Given the description of an element on the screen output the (x, y) to click on. 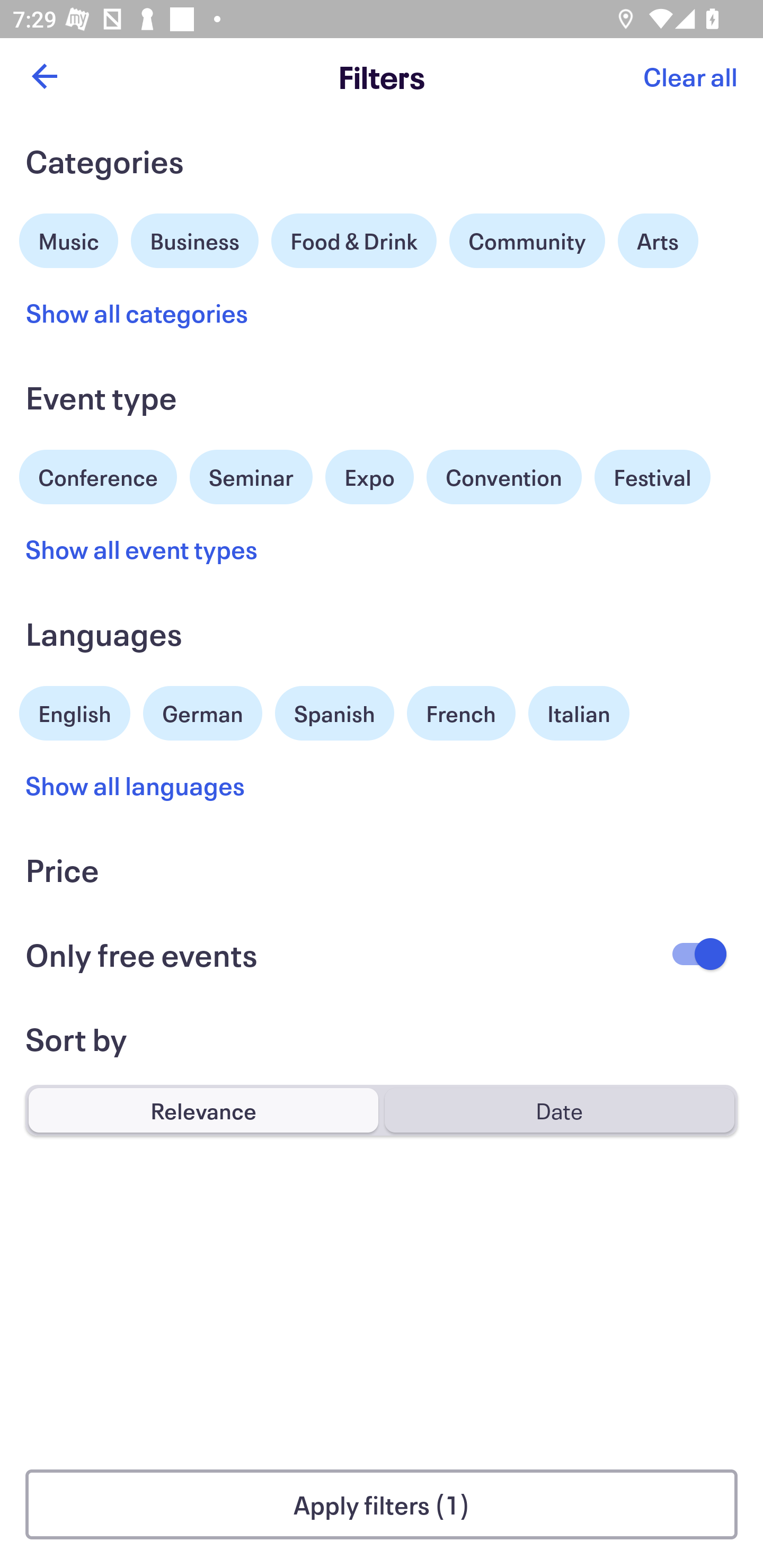
Back button (44, 75)
Clear all (690, 75)
Music (68, 238)
Business (194, 238)
Food & Drink (353, 240)
Community (527, 240)
Arts (658, 240)
Show all categories (136, 312)
Conference (98, 475)
Seminar (250, 477)
Expo (369, 477)
Convention (503, 477)
Festival (652, 477)
Show all event types (141, 548)
English (74, 710)
German (202, 710)
Spanish (334, 713)
French (460, 713)
Italian (578, 713)
Show all languages (135, 784)
Relevance (203, 1109)
Date (559, 1109)
Apply filters (1) (381, 1504)
